Given the description of an element on the screen output the (x, y) to click on. 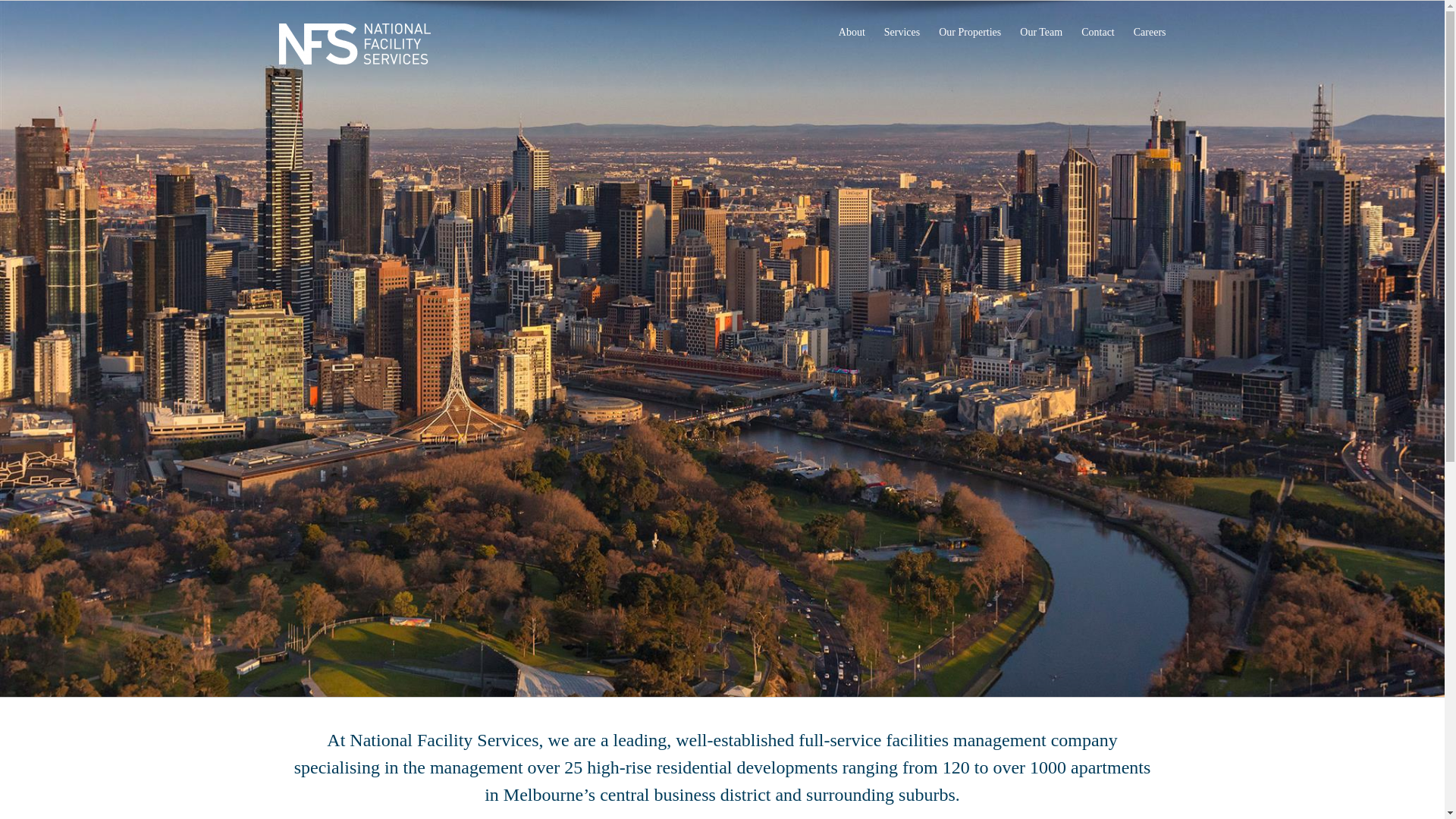
Services Element type: text (901, 31)
Our Properties Element type: text (969, 31)
Careers Element type: text (1149, 31)
Our Team Element type: text (1040, 31)
About Element type: text (851, 31)
Contact Element type: text (1097, 31)
